Given the description of an element on the screen output the (x, y) to click on. 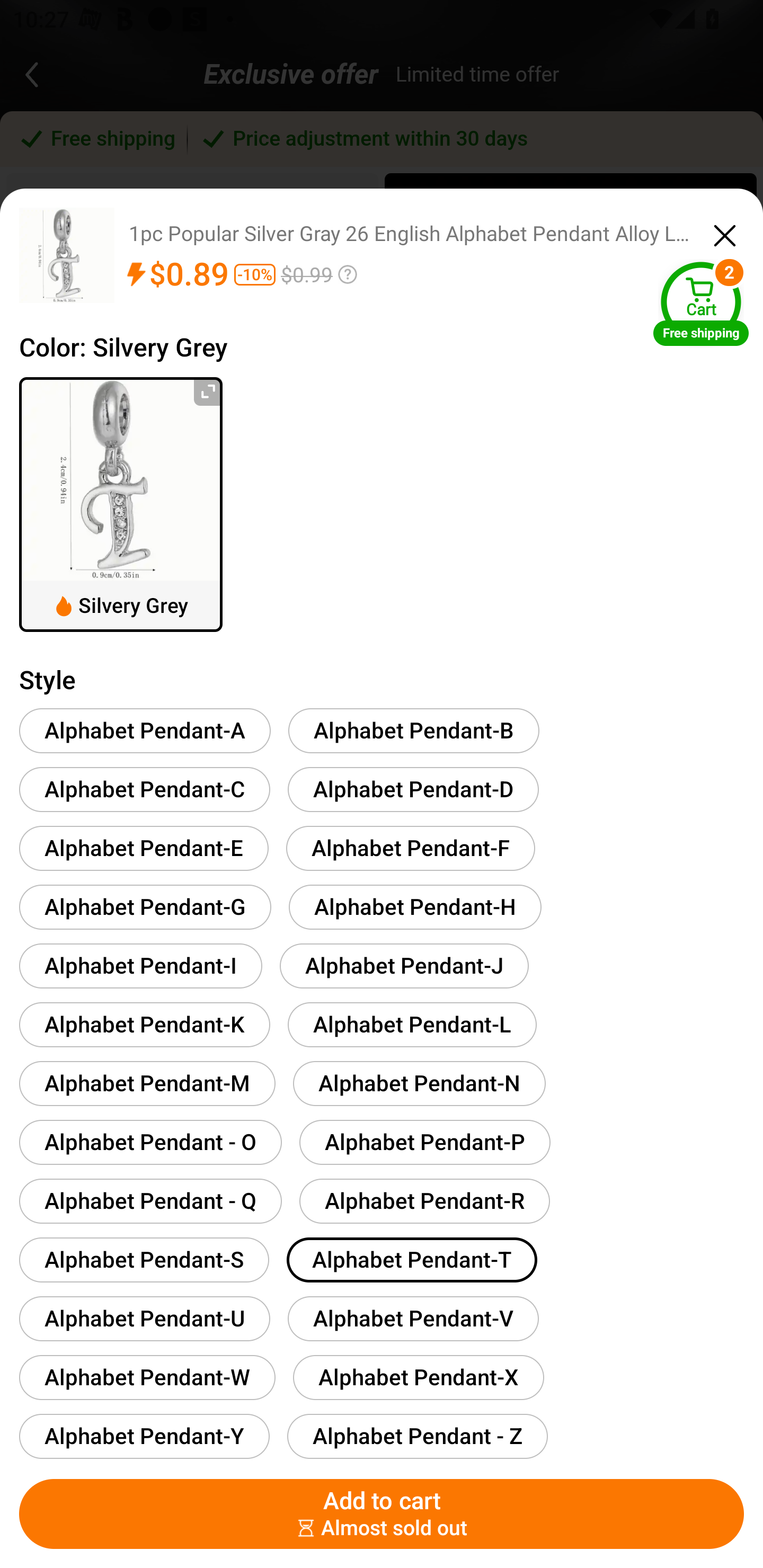
close (724, 232)
Cart Free shipping Cart (701, 303)
Silvery Grey ￼Silvery Grey (120, 504)
 Alphabet Pendant-A (144, 730)
 Alphabet Pendant-B (413, 730)
 Alphabet Pendant-C (144, 789)
 Alphabet Pendant-D (412, 789)
 Alphabet Pendant-E (143, 848)
 Alphabet Pendant-F (410, 848)
 Alphabet Pendant-G (145, 906)
 Alphabet Pendant-H (414, 906)
 Alphabet Pendant-I (140, 965)
 Alphabet Pendant-J (404, 965)
 Alphabet Pendant-K (144, 1024)
 Alphabet Pendant-L (411, 1024)
 Alphabet Pendant-M (147, 1083)
 Alphabet Pendant-N (418, 1083)
 Alphabet Pendant - O (150, 1142)
 Alphabet Pendant-P (424, 1142)
 Alphabet Pendant - Q (150, 1201)
 Alphabet Pendant-R (424, 1201)
 Alphabet Pendant-S (144, 1259)
 Alphabet Pendant-T (411, 1259)
 Alphabet Pendant-U (144, 1318)
 Alphabet Pendant-V (412, 1318)
 Alphabet Pendant-W (147, 1377)
 Alphabet Pendant-X (418, 1377)
 Alphabet Pendant-Y (144, 1436)
 Alphabet Pendant - Z (416, 1436)
Add to cart ￼￼Almost sold out (381, 1513)
